Given the description of an element on the screen output the (x, y) to click on. 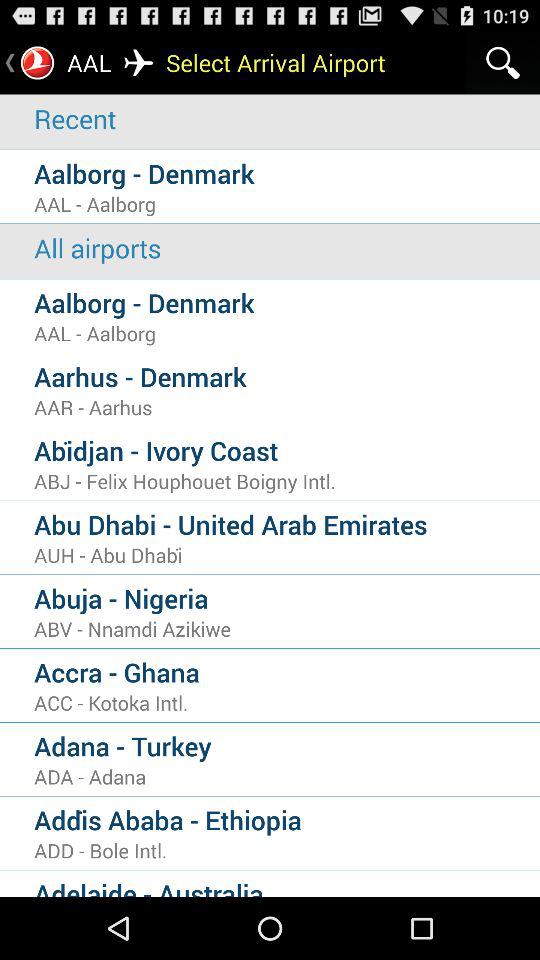
flip to the aar - aarhus item (287, 407)
